Given the description of an element on the screen output the (x, y) to click on. 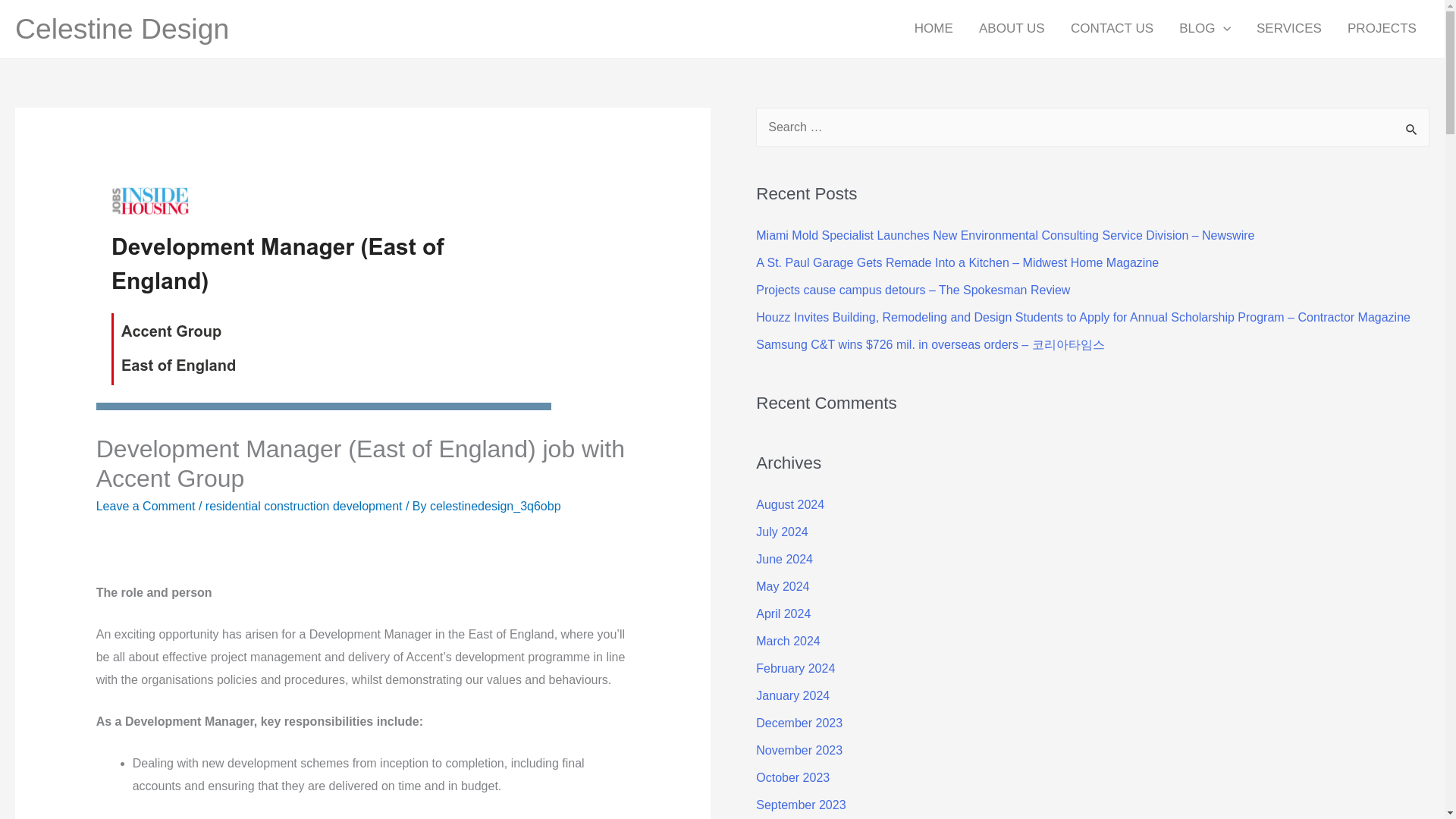
Celestine Design (121, 29)
BLOG (1204, 28)
PROJECTS (1382, 28)
residential construction development (304, 505)
Leave a Comment (145, 505)
ABOUT US (1012, 28)
SERVICES (1289, 28)
HOME (933, 28)
CONTACT US (1112, 28)
